Given the description of an element on the screen output the (x, y) to click on. 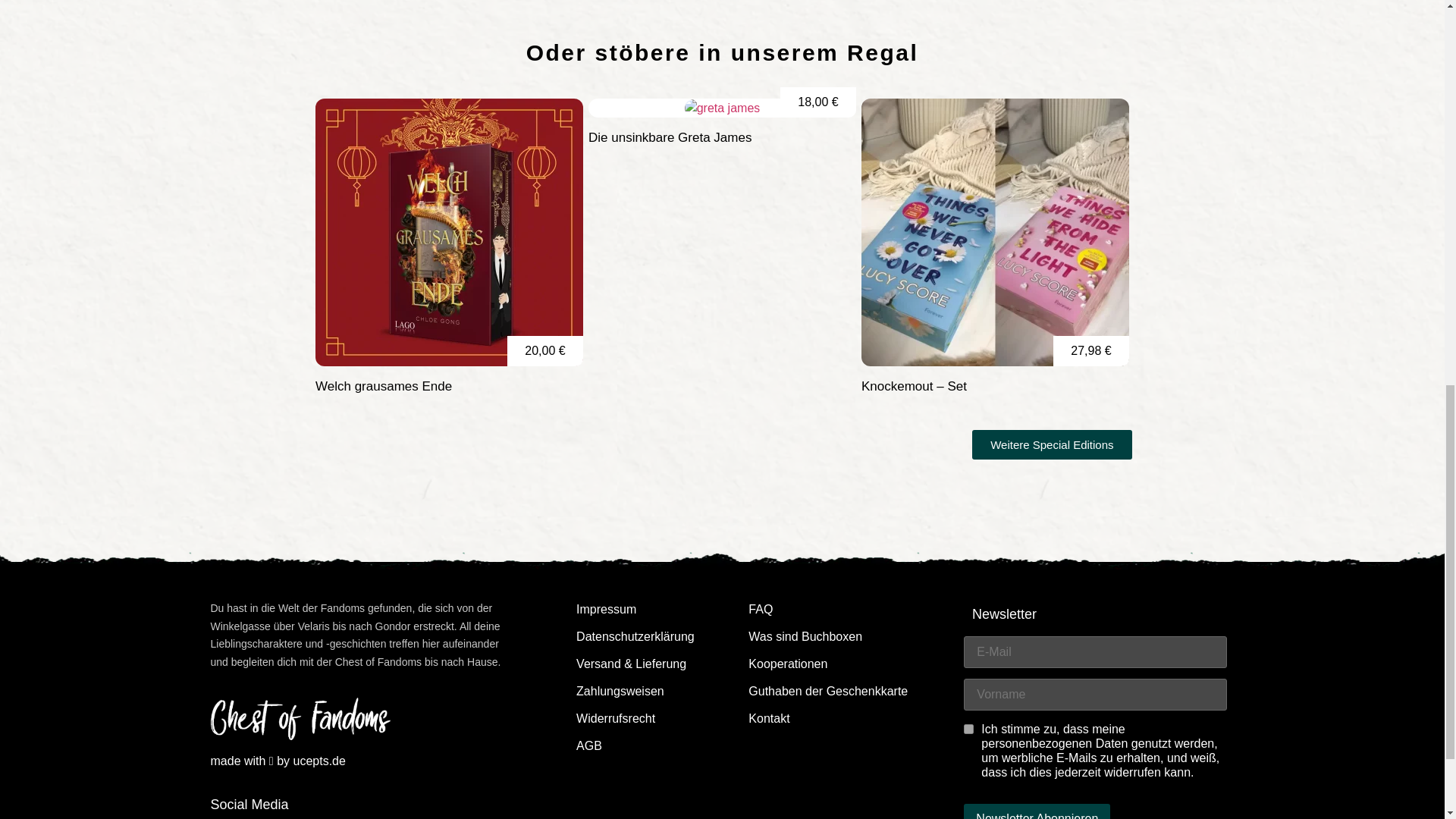
Newsletter Abonnieren (1036, 811)
greta james (722, 108)
KnockemoutSet (995, 232)
on (968, 728)
3225068024.jpg (449, 232)
